Given the description of an element on the screen output the (x, y) to click on. 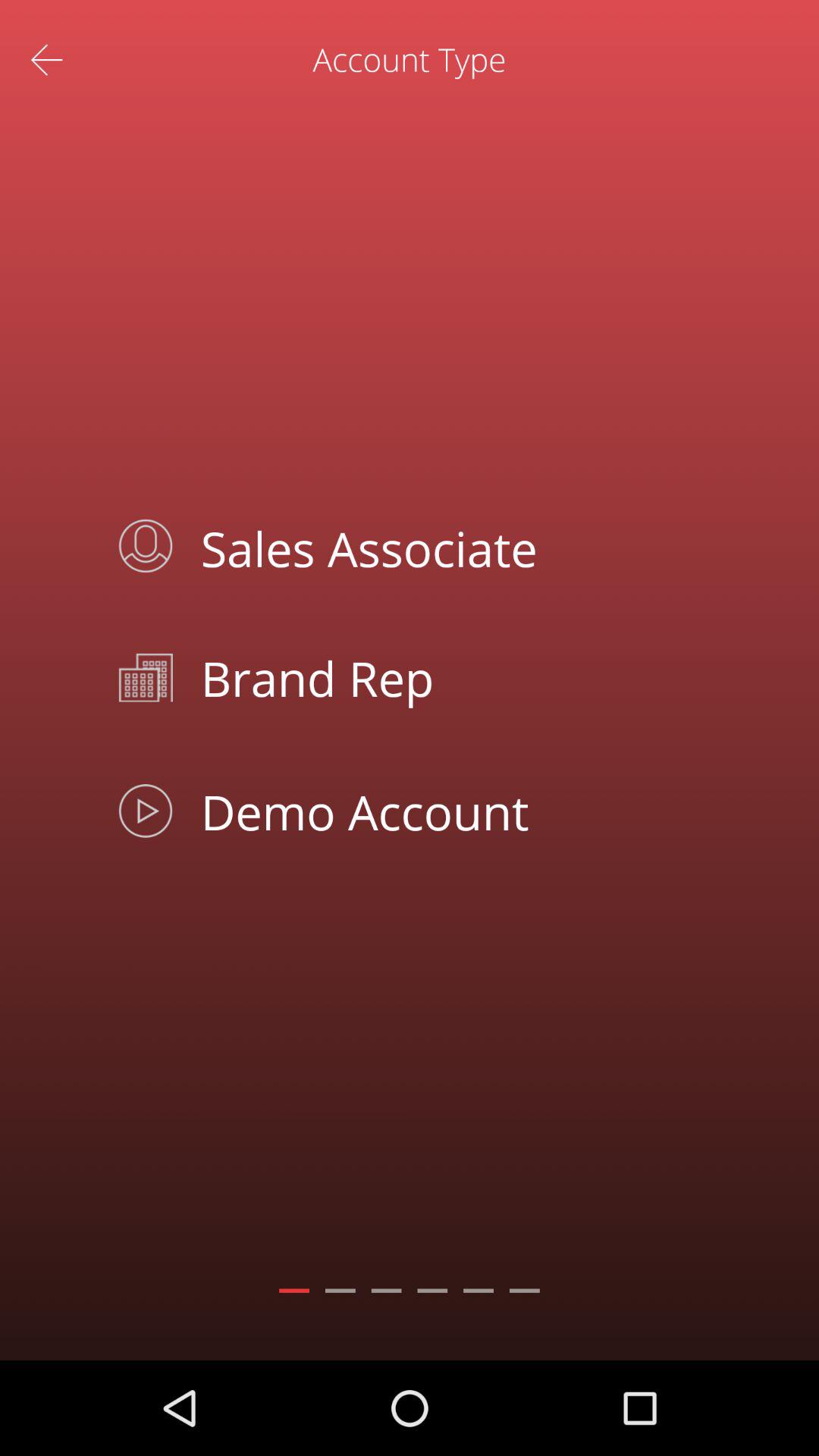
turn off demo account app (444, 811)
